Given the description of an element on the screen output the (x, y) to click on. 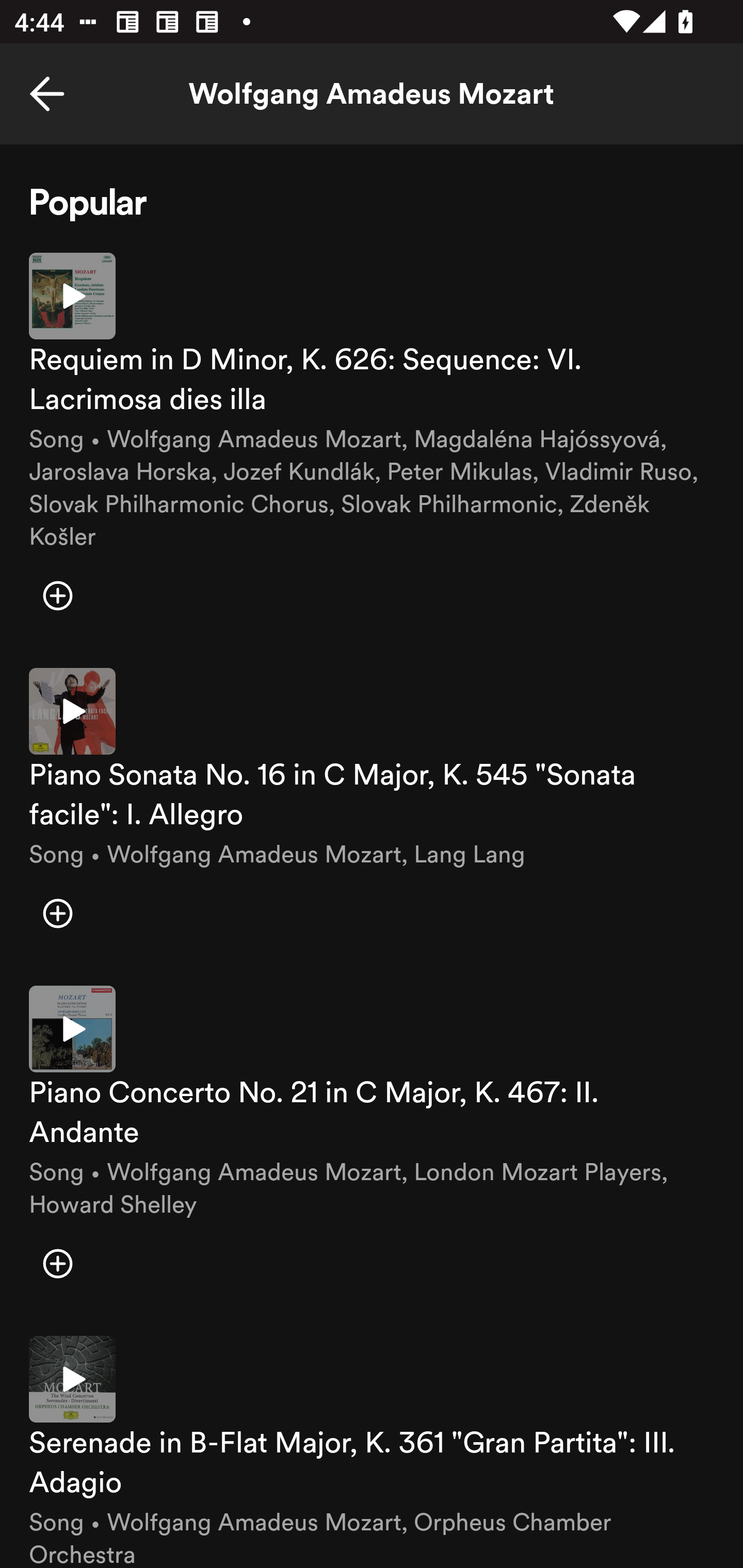
Back (46, 93)
Play preview (71, 295)
Add item (57, 595)
Play preview (71, 710)
Add item (57, 913)
Play preview (71, 1029)
Add item (57, 1263)
Play preview (71, 1378)
